Given the description of an element on the screen output the (x, y) to click on. 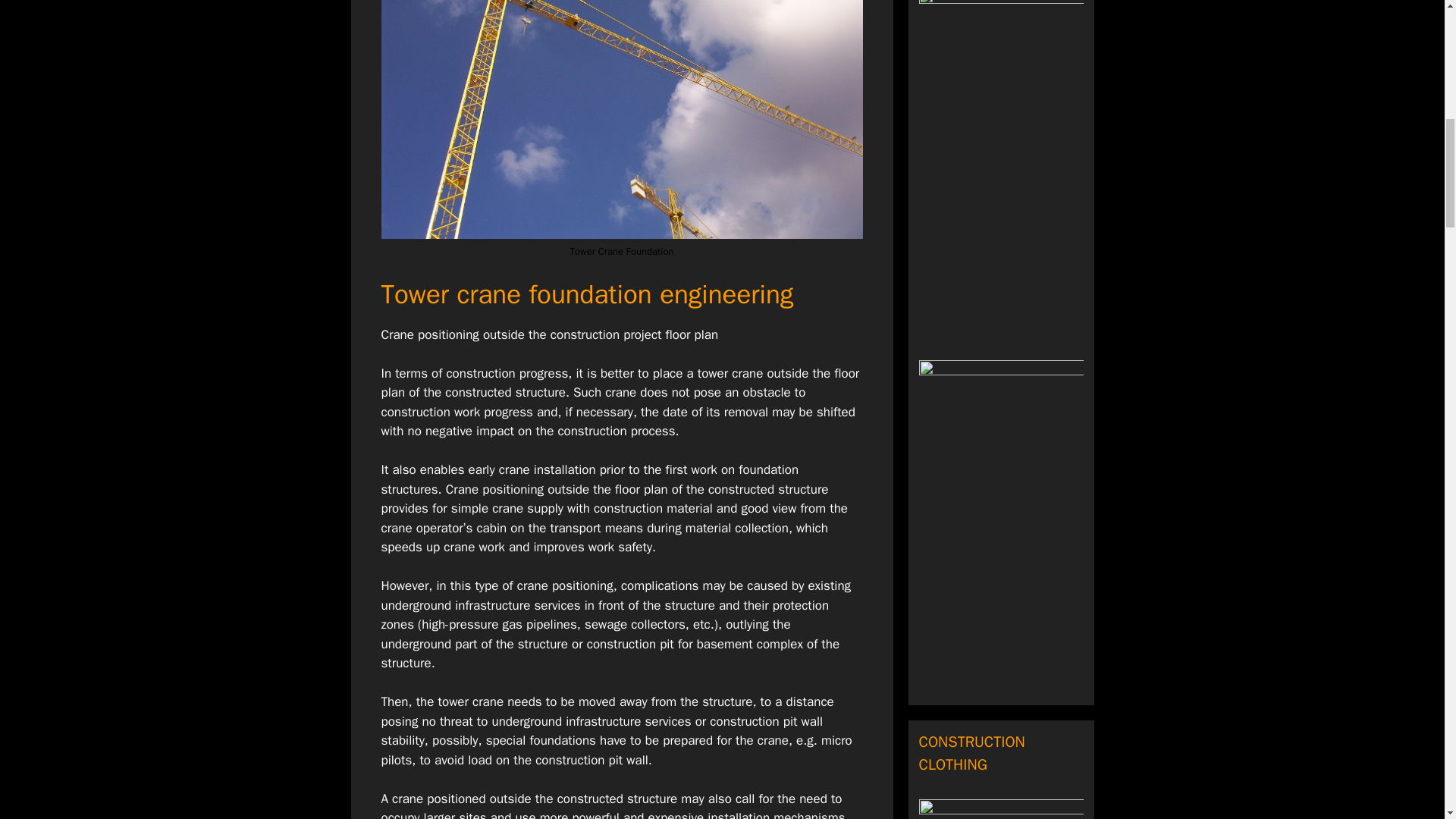
Scroll back to top (1406, 720)
